Given the description of an element on the screen output the (x, y) to click on. 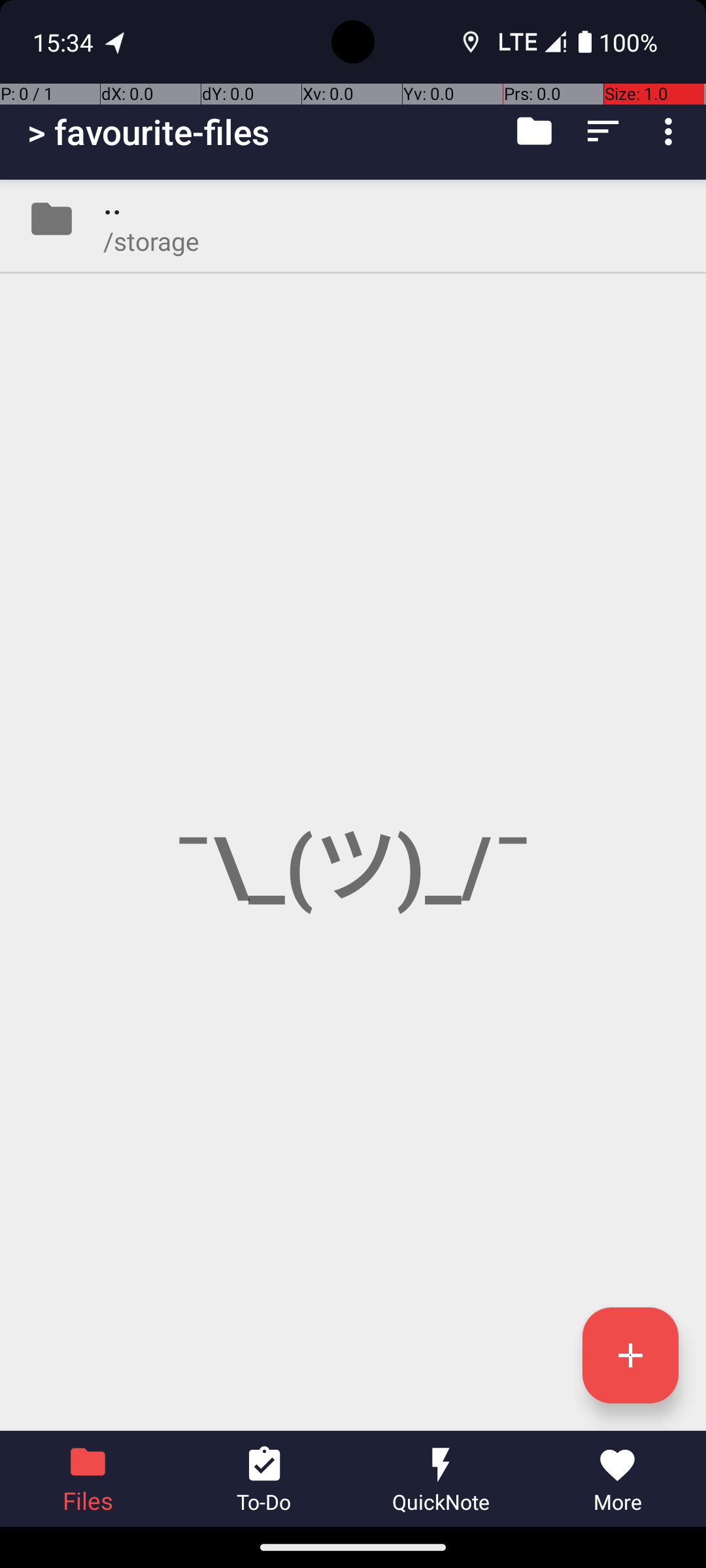
> favourite-files Element type: android.widget.TextView (148, 131)
